Given the description of an element on the screen output the (x, y) to click on. 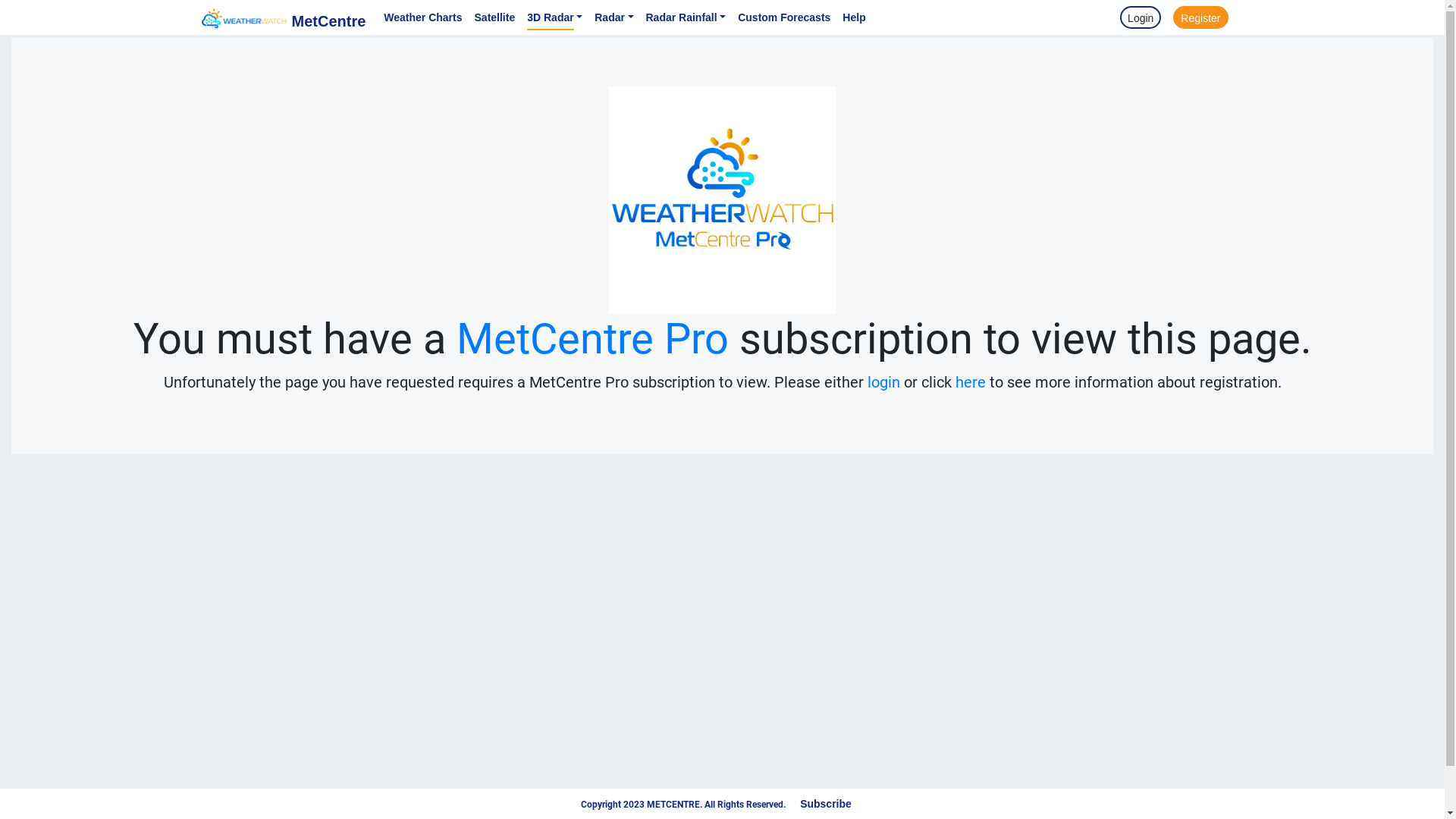
MetCentre Element type: text (281, 17)
Weather Charts Element type: text (422, 17)
login Element type: text (883, 382)
Subscribe Element type: text (825, 804)
Register Element type: text (1200, 17)
3D Radar Element type: text (554, 17)
here Element type: text (970, 382)
Satellite Element type: text (494, 17)
Help Element type: text (853, 17)
Custom Forecasts Element type: text (783, 17)
Login Element type: text (1140, 17)
Radar Rainfall Element type: text (686, 17)
MetCentre Pro Element type: text (592, 338)
Radar Element type: text (613, 17)
